Given the description of an element on the screen output the (x, y) to click on. 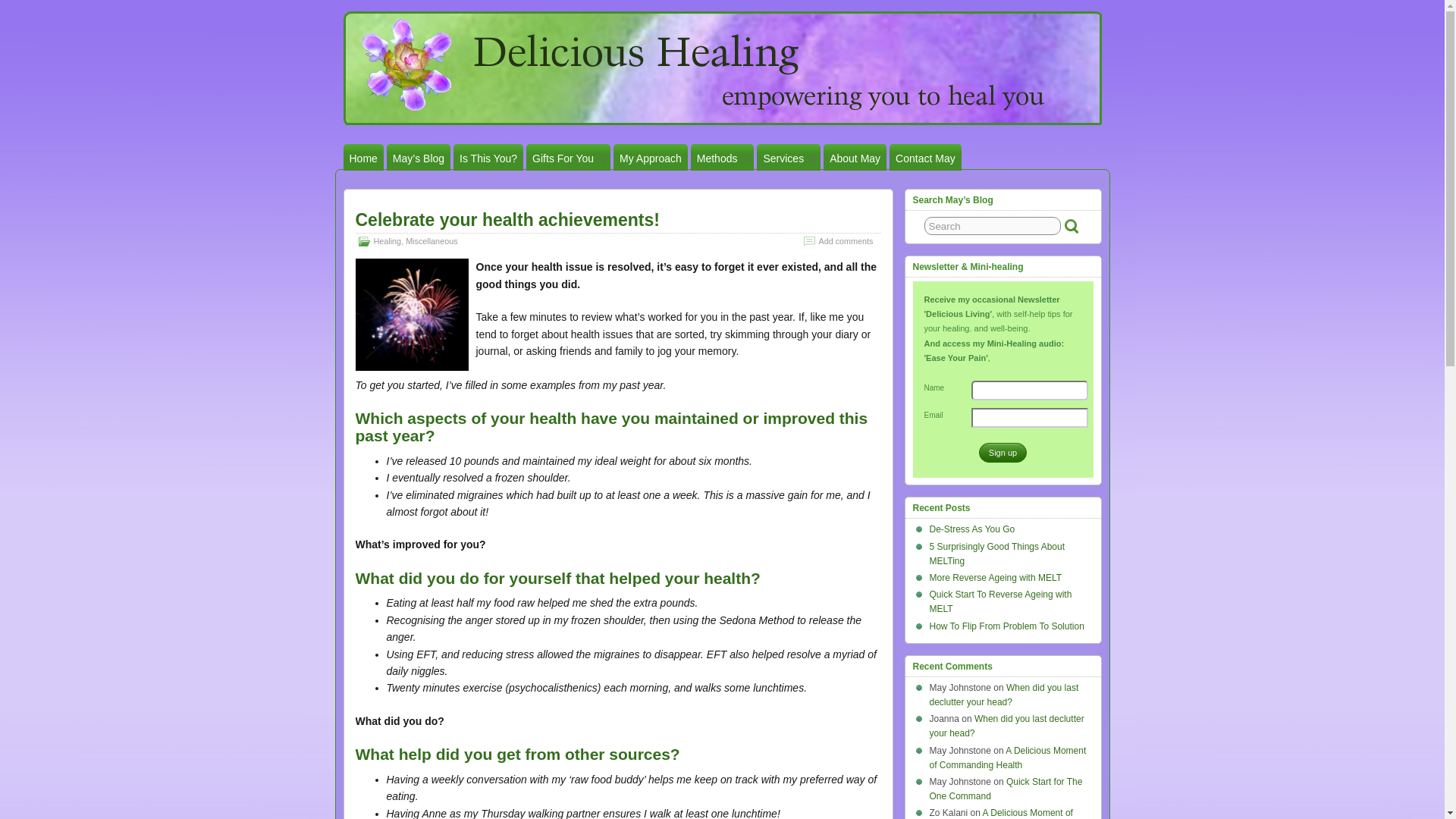
Add comments (845, 240)
Healing (386, 240)
Celebrate your health achievements! (507, 219)
Celebrate your health achievements! (507, 219)
 Services (789, 157)
De-Stress As You Go (972, 529)
Is This You? (487, 157)
My Approach (649, 157)
Contact May (924, 157)
Miscellaneous (431, 240)
 Methods (722, 157)
Sign  up (1002, 453)
 Gifts For You (567, 157)
Quick Start To Reverse Ageing with MELT (1000, 601)
5 Surprisingly Good Things About MELTing (997, 553)
